Given the description of an element on the screen output the (x, y) to click on. 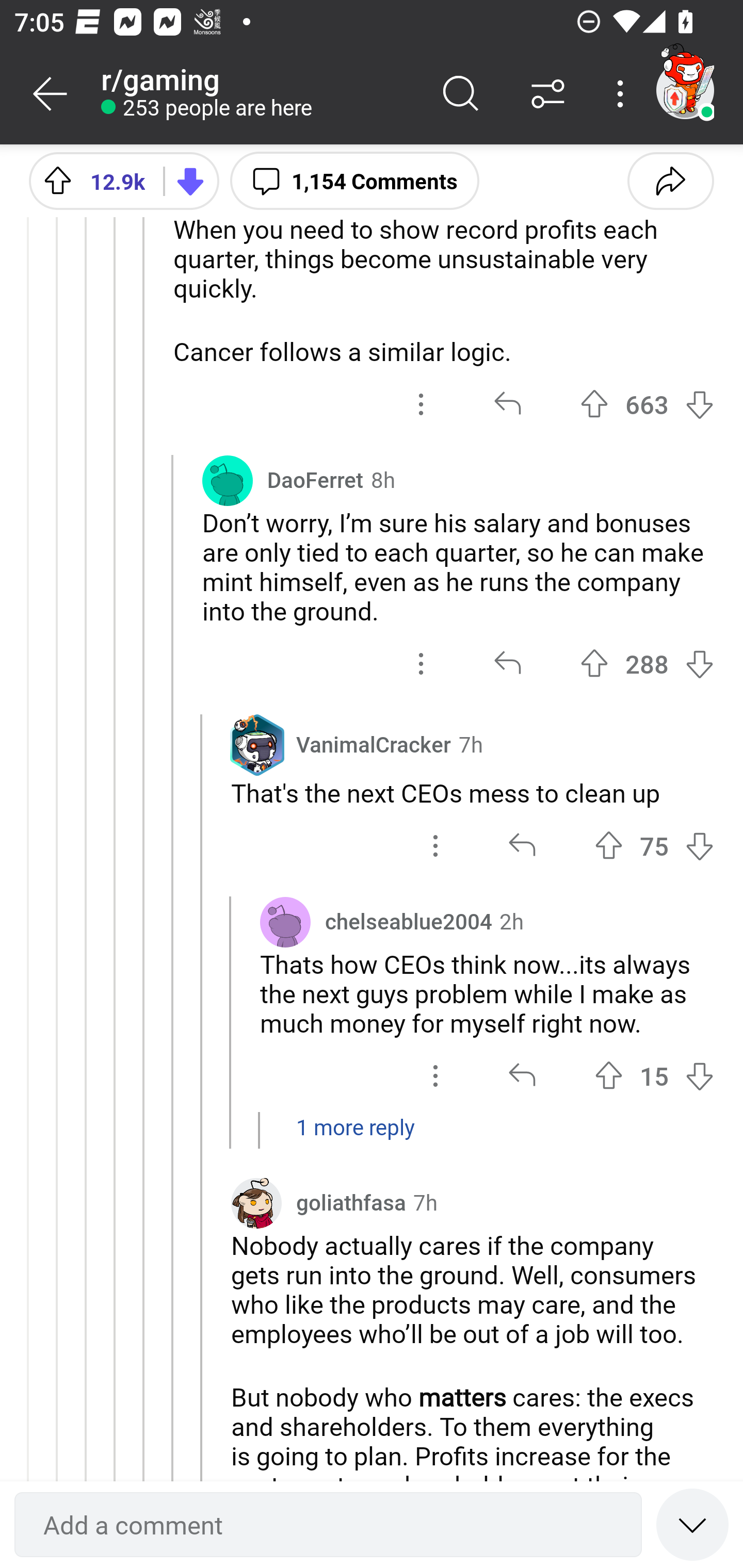
Back (50, 93)
TestAppium002 account (685, 90)
Search comments (460, 93)
Sort comments (547, 93)
More options (623, 93)
r/gaming 253 people are here (259, 93)
Upvote 12.9k (88, 180)
1,154 Comments (354, 180)
Share (670, 180)
Avatar (198, 186)
options (420, 404)
Upvote 663 663 votes Downvote (647, 404)
Avatar (227, 479)
options (420, 663)
Upvote 288 288 votes Downvote (647, 663)
That's the next CEOs mess to clean up (472, 792)
options (435, 845)
Upvote 75 75 votes Downvote (654, 845)
Avatar (285, 921)
options (435, 1075)
Upvote 15 15 votes Downvote (654, 1075)
1 more reply (371, 1137)
Custom avatar (256, 1202)
Speed read (692, 1524)
Add a comment (327, 1524)
